Given the description of an element on the screen output the (x, y) to click on. 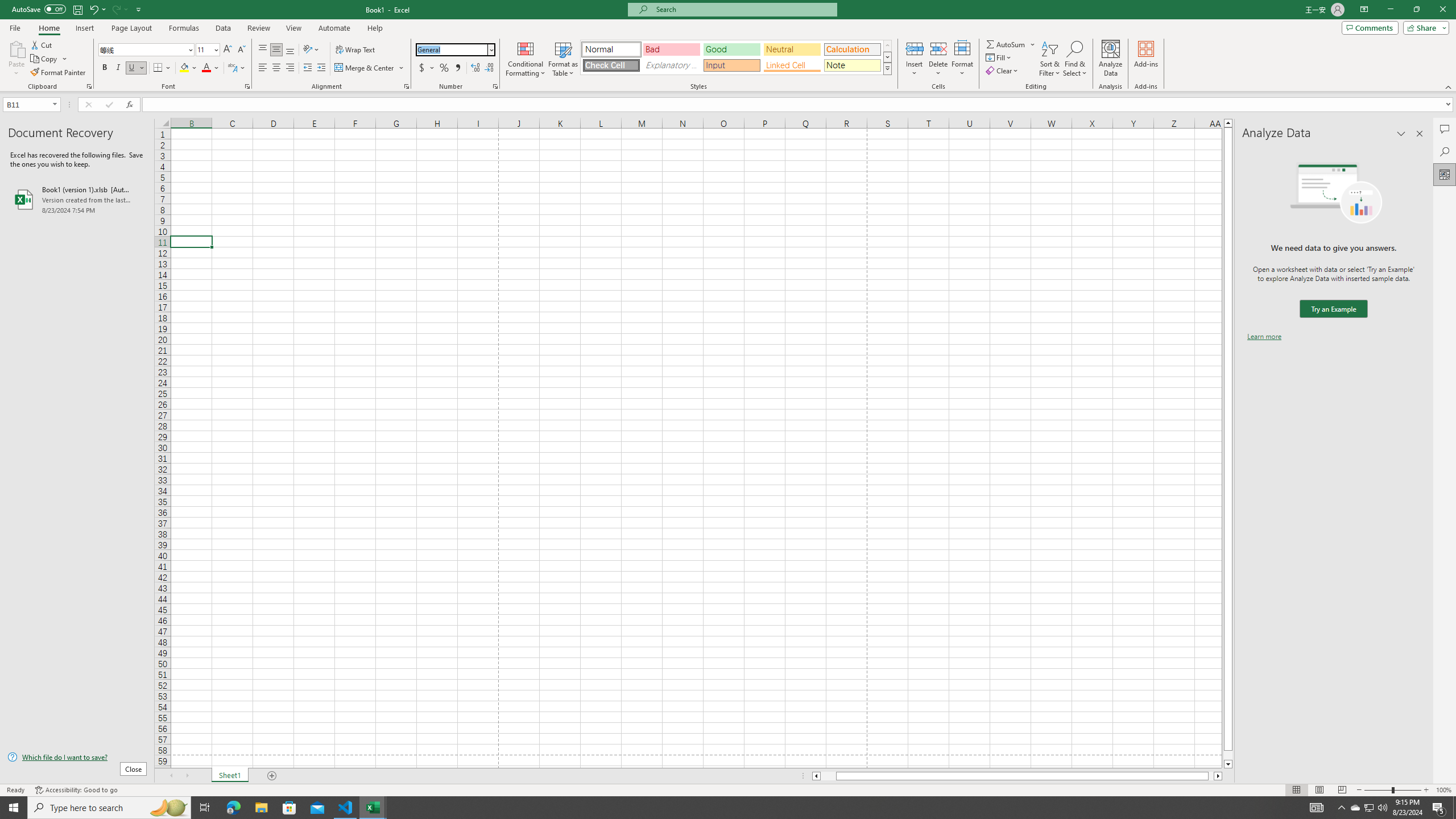
Neutral (791, 49)
Bottom Border (157, 67)
Middle Align (276, 49)
Conditional Formatting (525, 58)
Input (731, 65)
Font Size (204, 49)
